Given the description of an element on the screen output the (x, y) to click on. 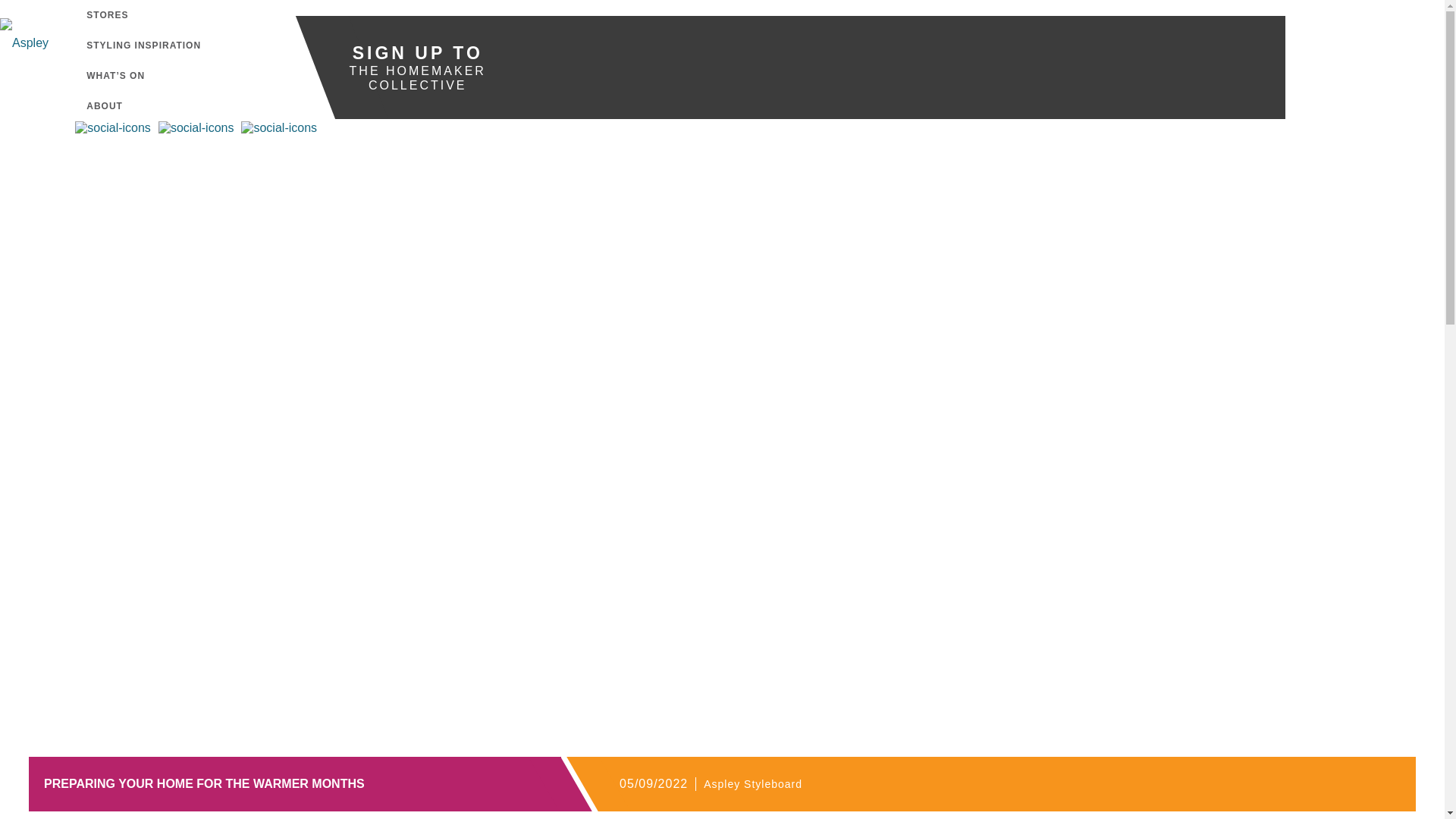
STYLING INSPIRATION (143, 45)
ABOUT (104, 105)
Aspley Homemaker City (58, 50)
STORES (106, 15)
